Given the description of an element on the screen output the (x, y) to click on. 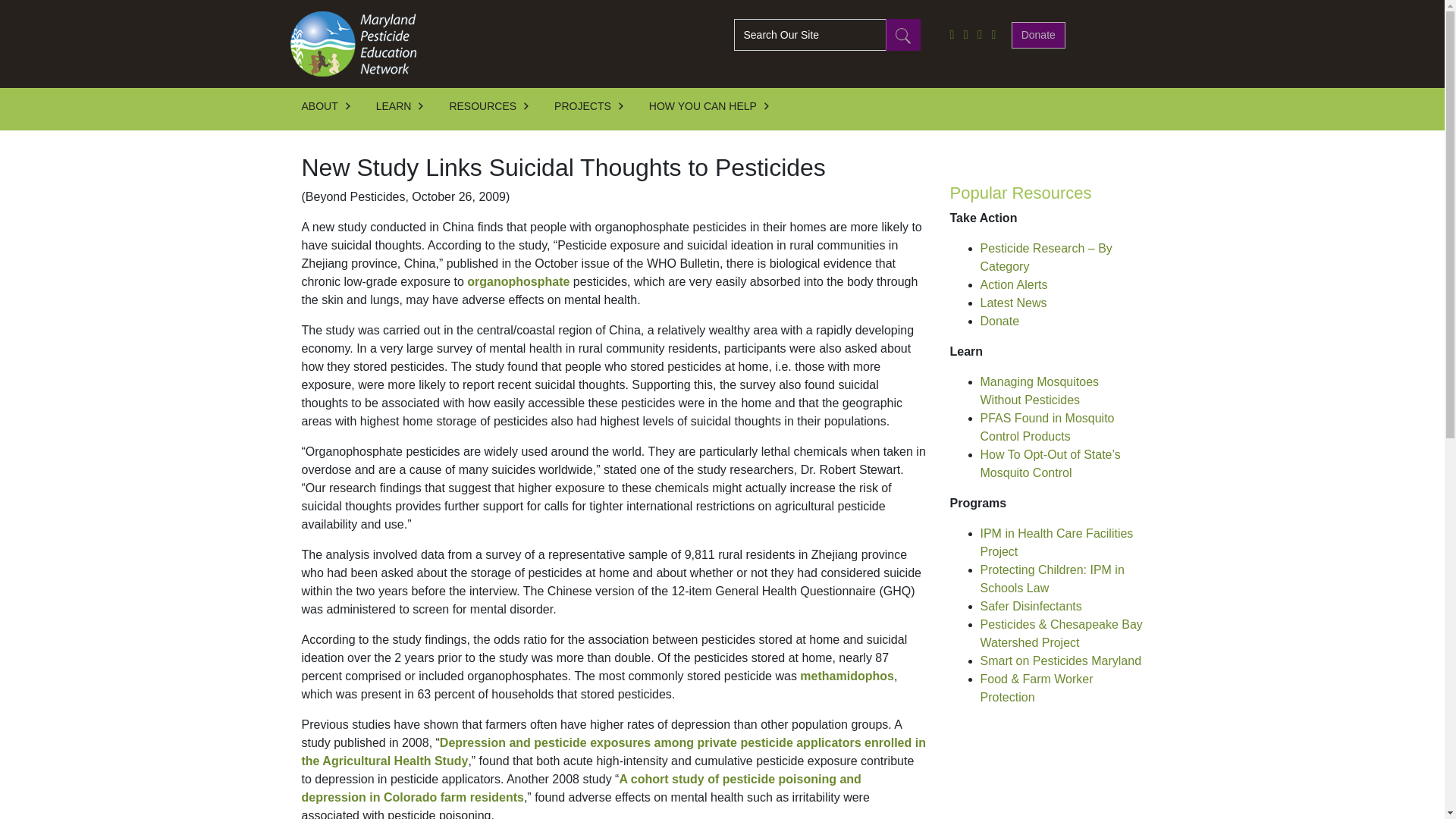
Donate (1038, 35)
Donate (1038, 33)
LEARN (406, 109)
ABOUT (333, 109)
RESOURCES (495, 109)
PROJECTS (595, 109)
